Given the description of an element on the screen output the (x, y) to click on. 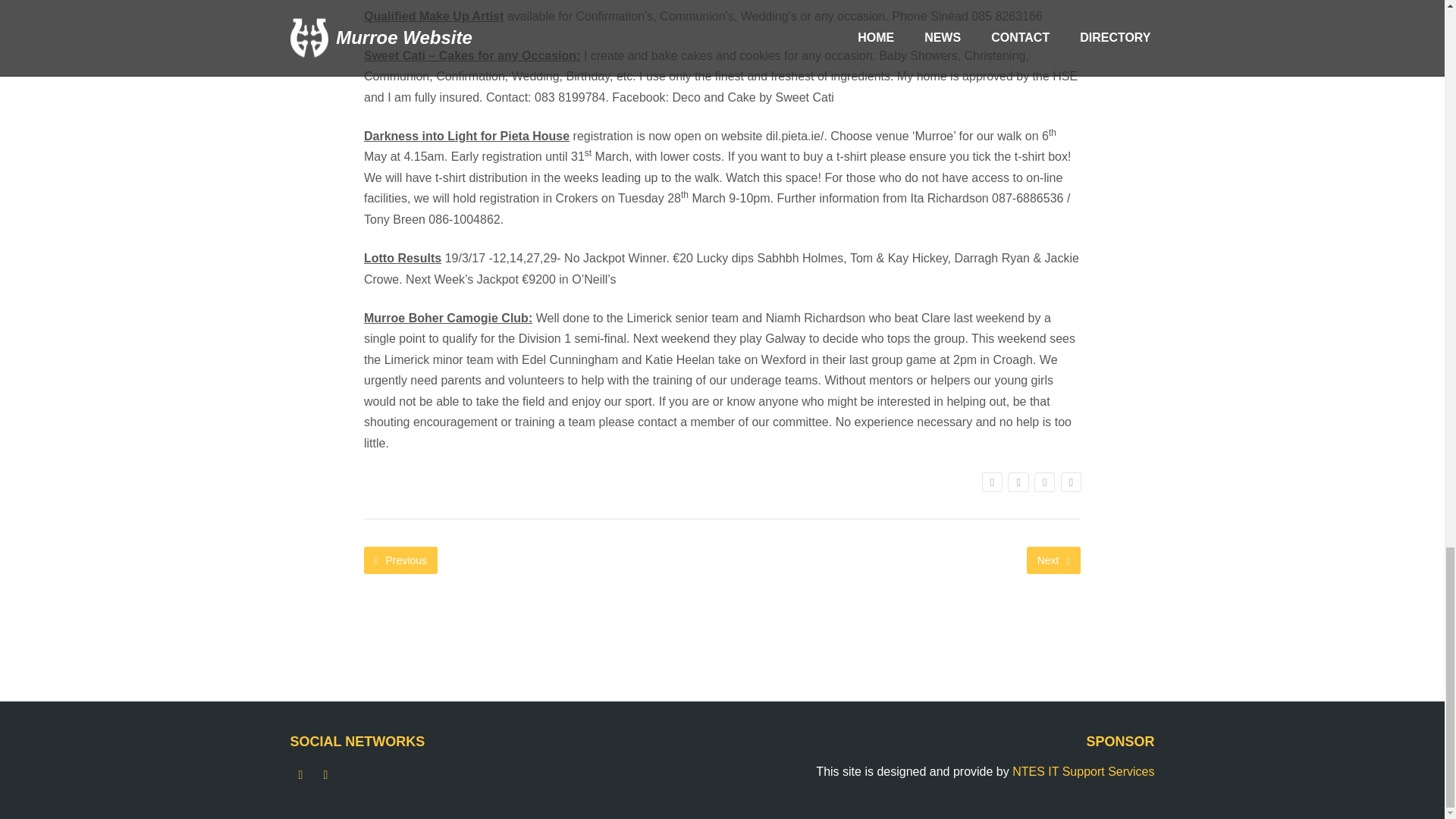
Next (1053, 560)
Previous (401, 560)
NTES IT Support Services (1082, 771)
